Given the description of an element on the screen output the (x, y) to click on. 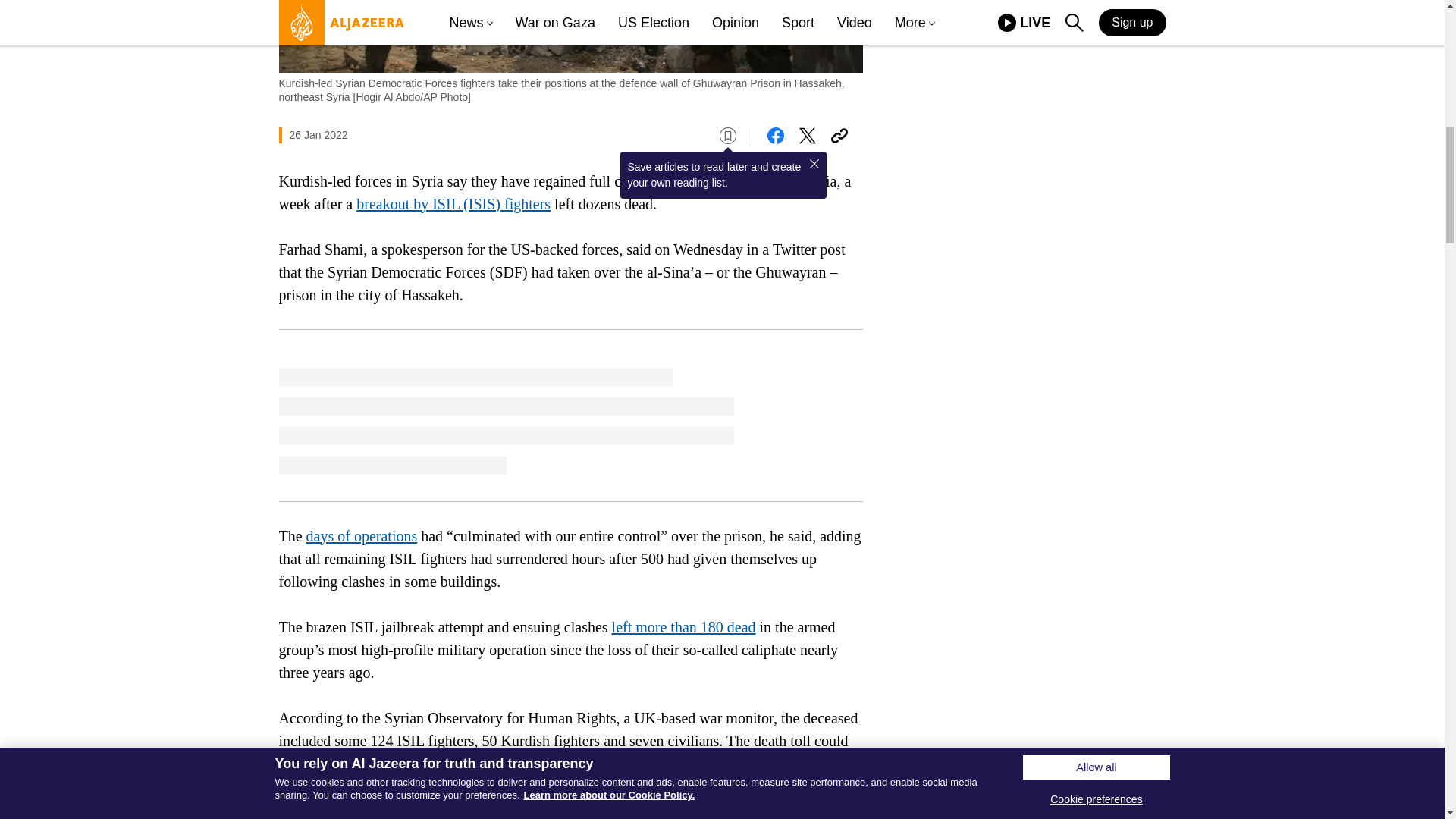
twitter (807, 135)
Close Tooltip (814, 163)
copylink (839, 135)
copylink (839, 135)
facebook (775, 135)
facebook (775, 135)
twitter (807, 135)
